Given the description of an element on the screen output the (x, y) to click on. 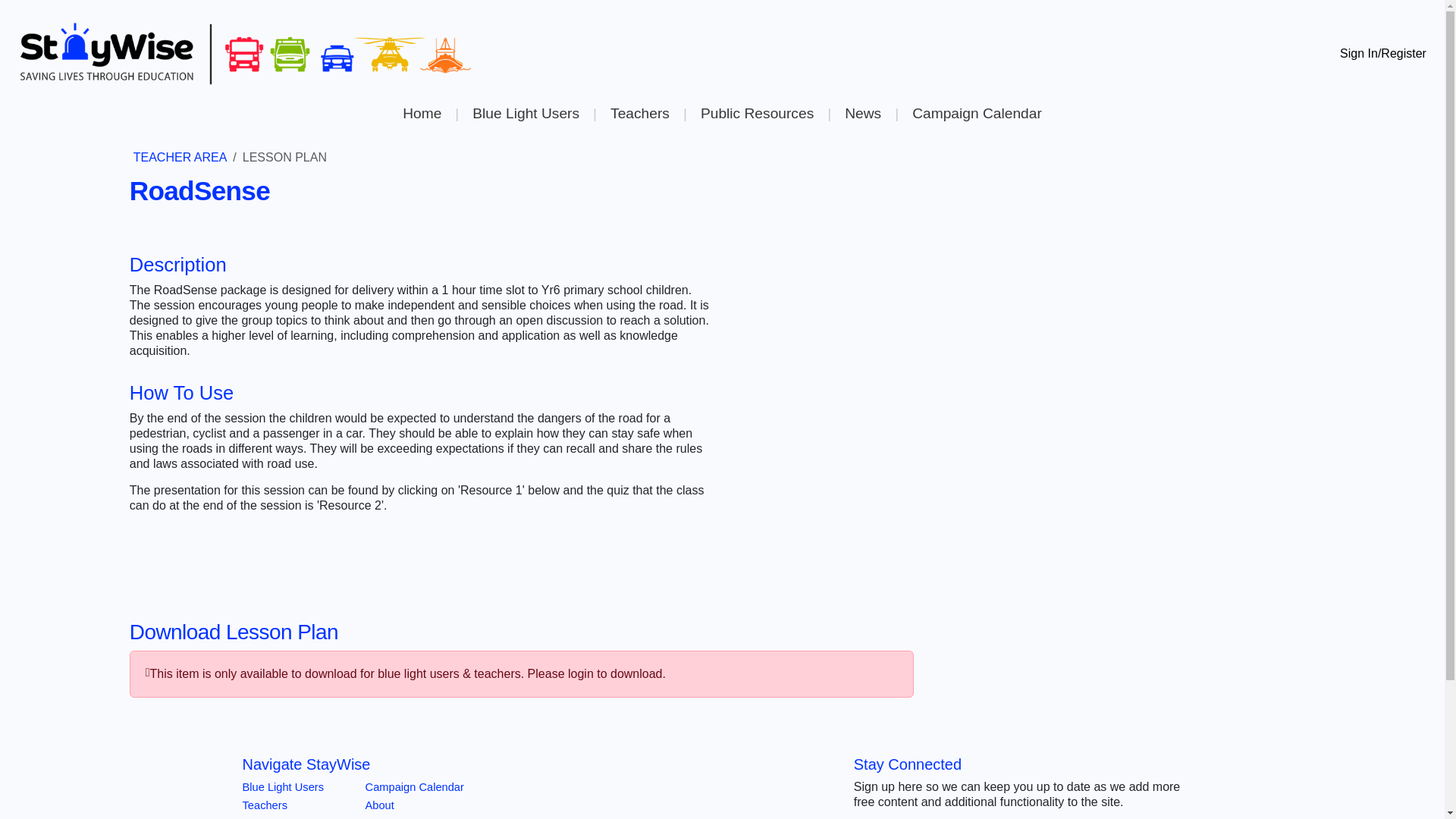
Contact (384, 818)
About (379, 805)
Public Resources (756, 113)
Blue Light Users (283, 787)
News (862, 113)
Campaign Calendar (414, 787)
Public Resources (286, 818)
Blue Light Users (525, 113)
Teachers (639, 113)
Teachers (264, 805)
